Given the description of an element on the screen output the (x, y) to click on. 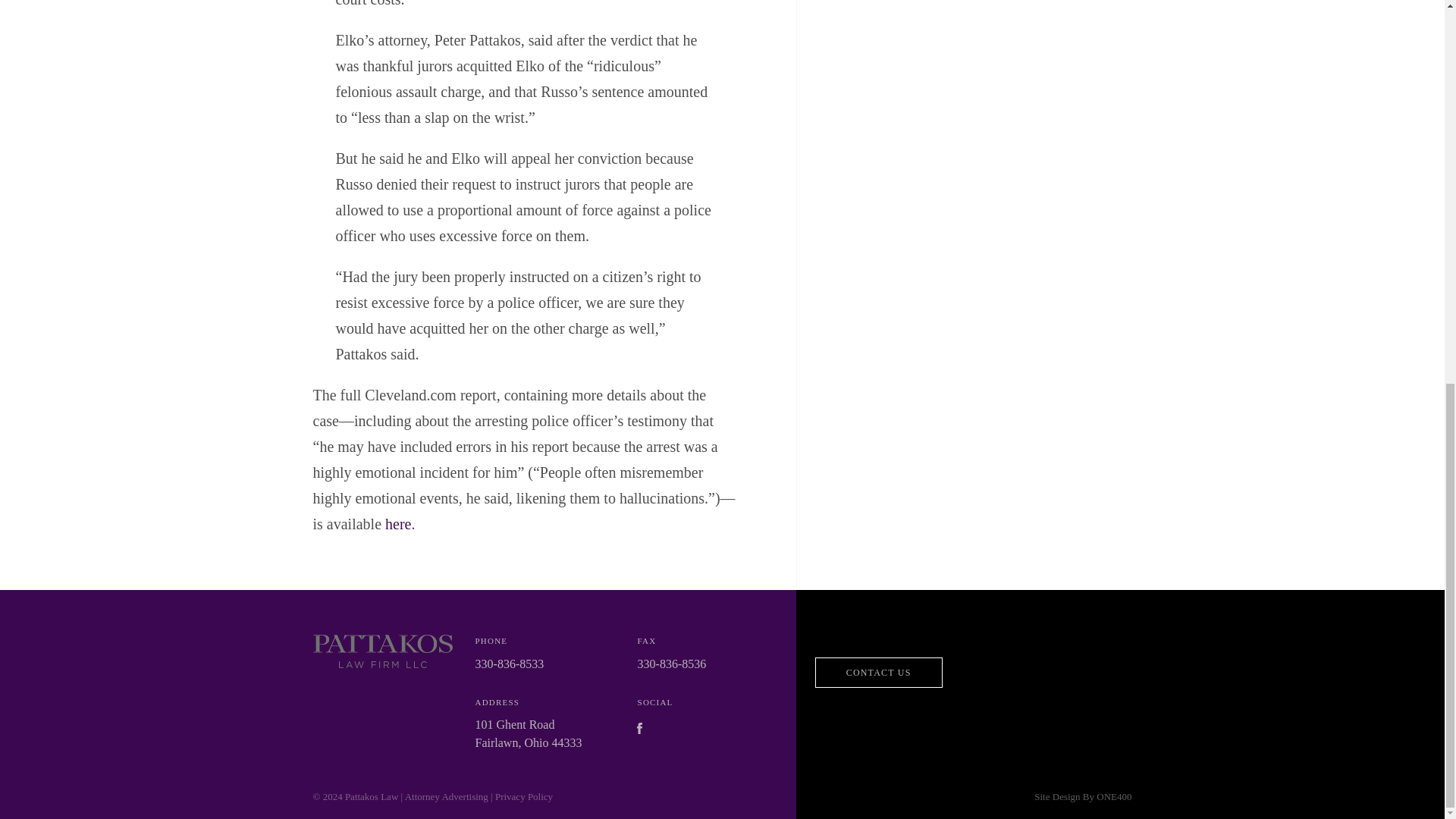
Attorney Advertising (445, 796)
CONTACT US (878, 672)
ONE400 (1113, 796)
Privacy Policy (524, 796)
here (397, 523)
330-836-8533 (510, 663)
